Given the description of an element on the screen output the (x, y) to click on. 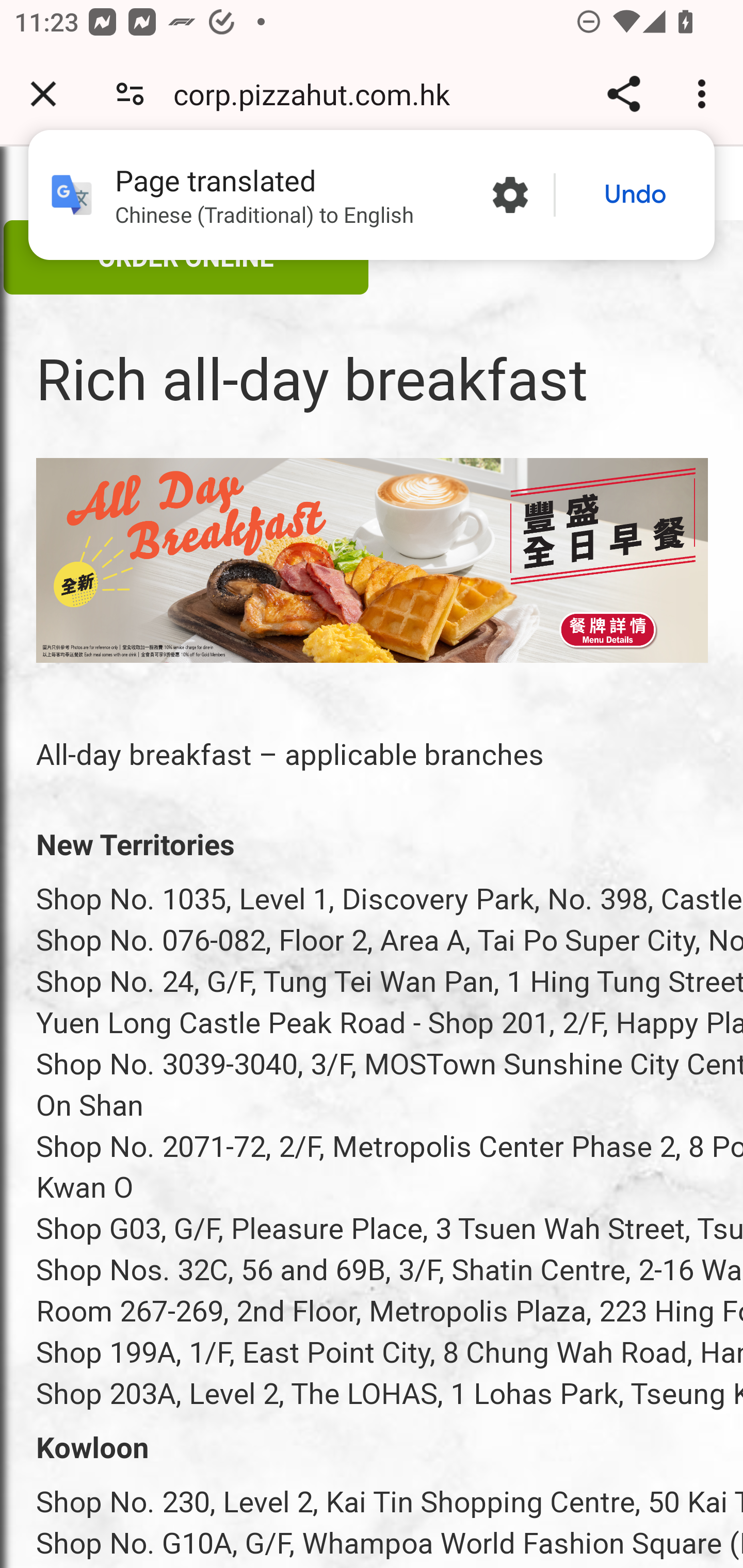
Close tab (43, 93)
Share (623, 93)
Customize and control Google Chrome (705, 93)
Connection is secure (129, 93)
corp.pizzahut.com.hk (318, 93)
Undo (634, 195)
More options in the Page translated (509, 195)
 (54, 185)
ph-logo (342, 188)
menu (372, 560)
